Given the description of an element on the screen output the (x, y) to click on. 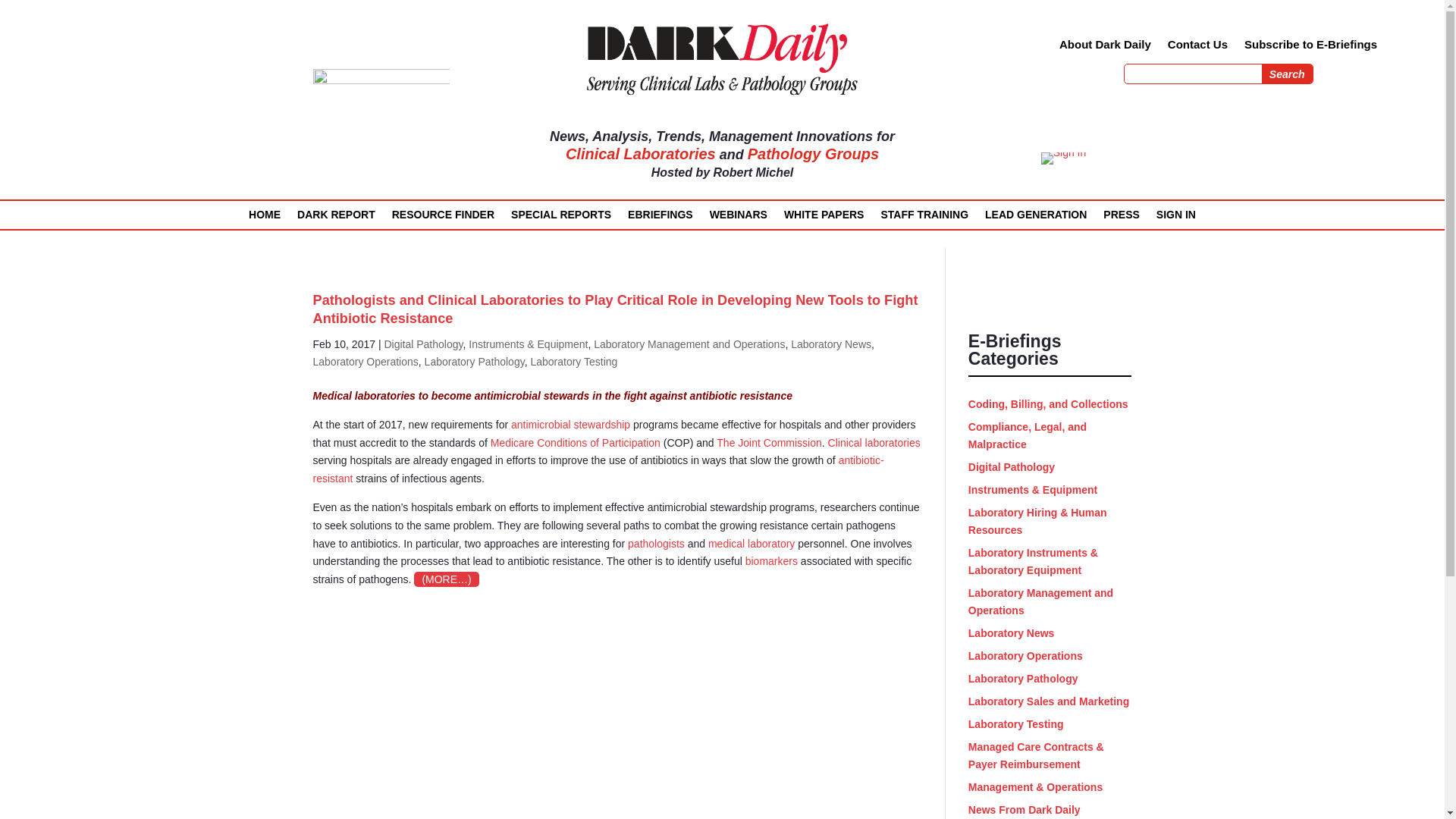
Contact Us (1197, 47)
Digital Pathology (423, 344)
Laboratory Operations (365, 361)
RESOURCE FINDER (443, 217)
Laboratory Testing (573, 361)
WEBINARS (738, 217)
Laboratory Pathology (474, 361)
PRESS (1120, 217)
HOME (264, 217)
robert-michael-dark-daily (380, 137)
About Dark Daily (1105, 47)
DARK REPORT (336, 217)
Search (1287, 73)
sign-in-for-dark-daily (1063, 158)
Laboratory Management and Operations (689, 344)
